Given the description of an element on the screen output the (x, y) to click on. 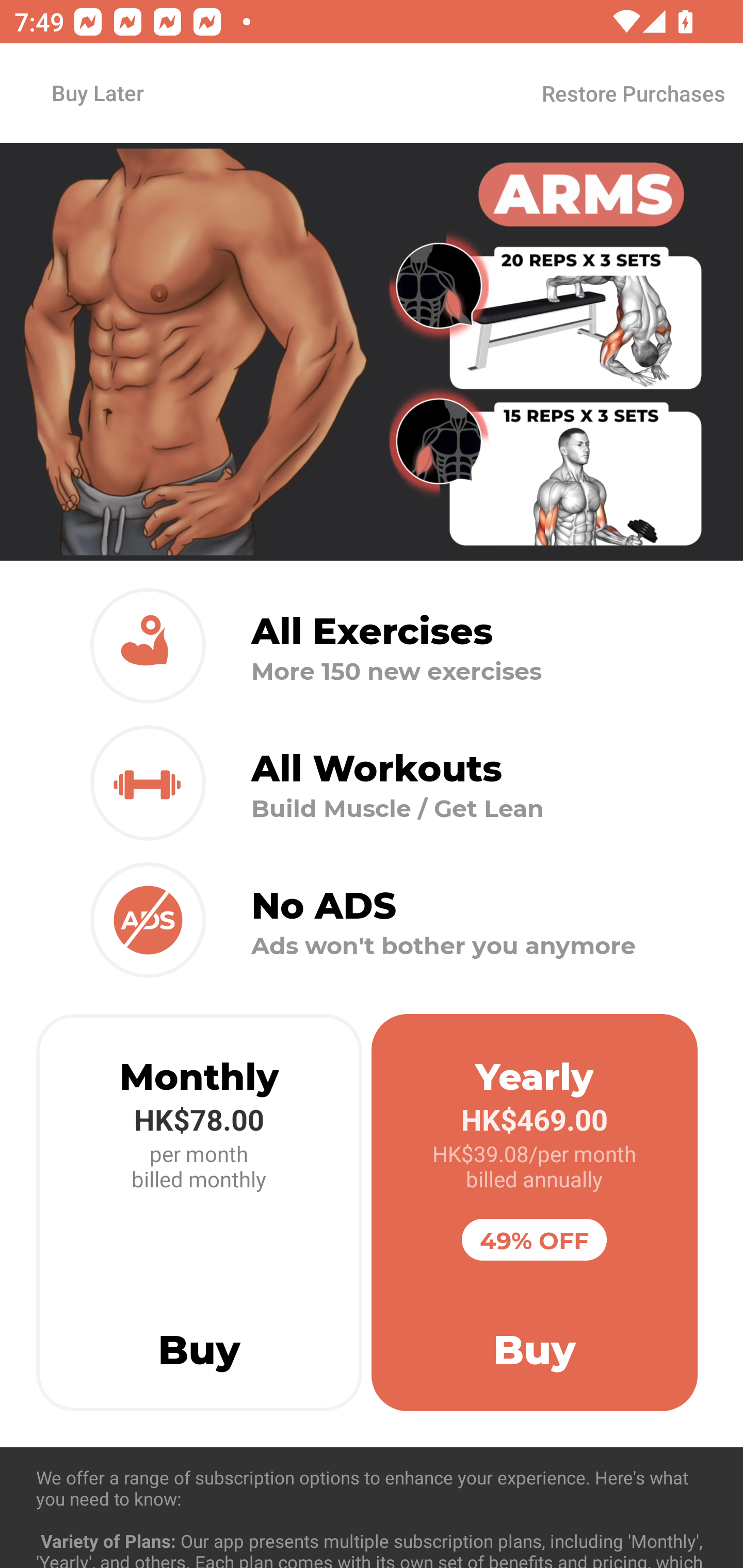
Restore Purchases (632, 92)
Buy Later (96, 92)
Monthly HK$78.00 per month
billed monthly Buy (199, 1212)
